Given the description of an element on the screen output the (x, y) to click on. 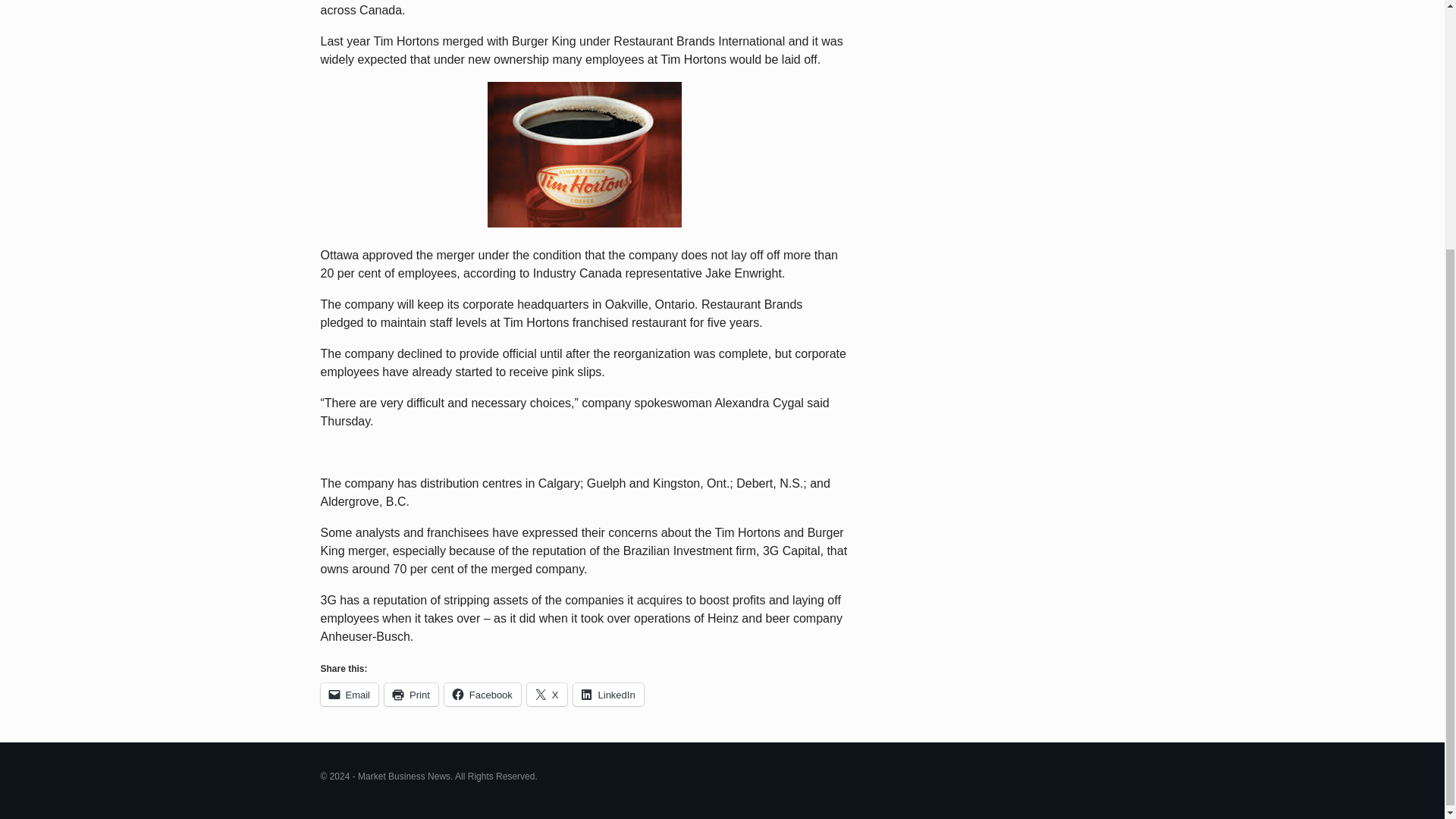
Facebook (482, 694)
Click to print (411, 694)
Click to share on LinkedIn (608, 694)
LinkedIn (608, 694)
Click to email a link to a friend (349, 694)
Click to share on X (547, 694)
Click to share on Facebook (482, 694)
X (547, 694)
Email (349, 694)
Print (411, 694)
